Given the description of an element on the screen output the (x, y) to click on. 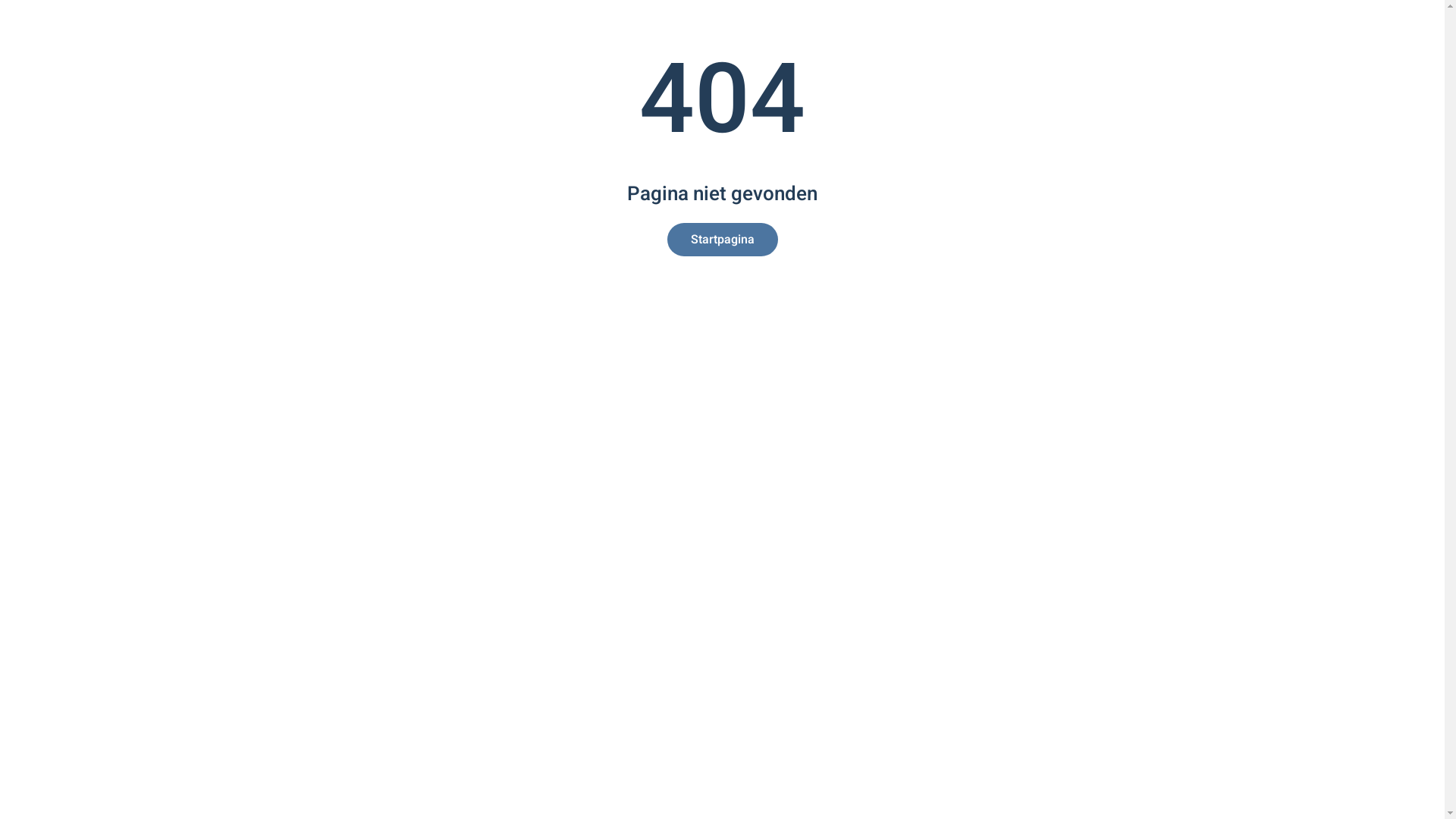
Startpagina Element type: text (722, 239)
